Given the description of an element on the screen output the (x, y) to click on. 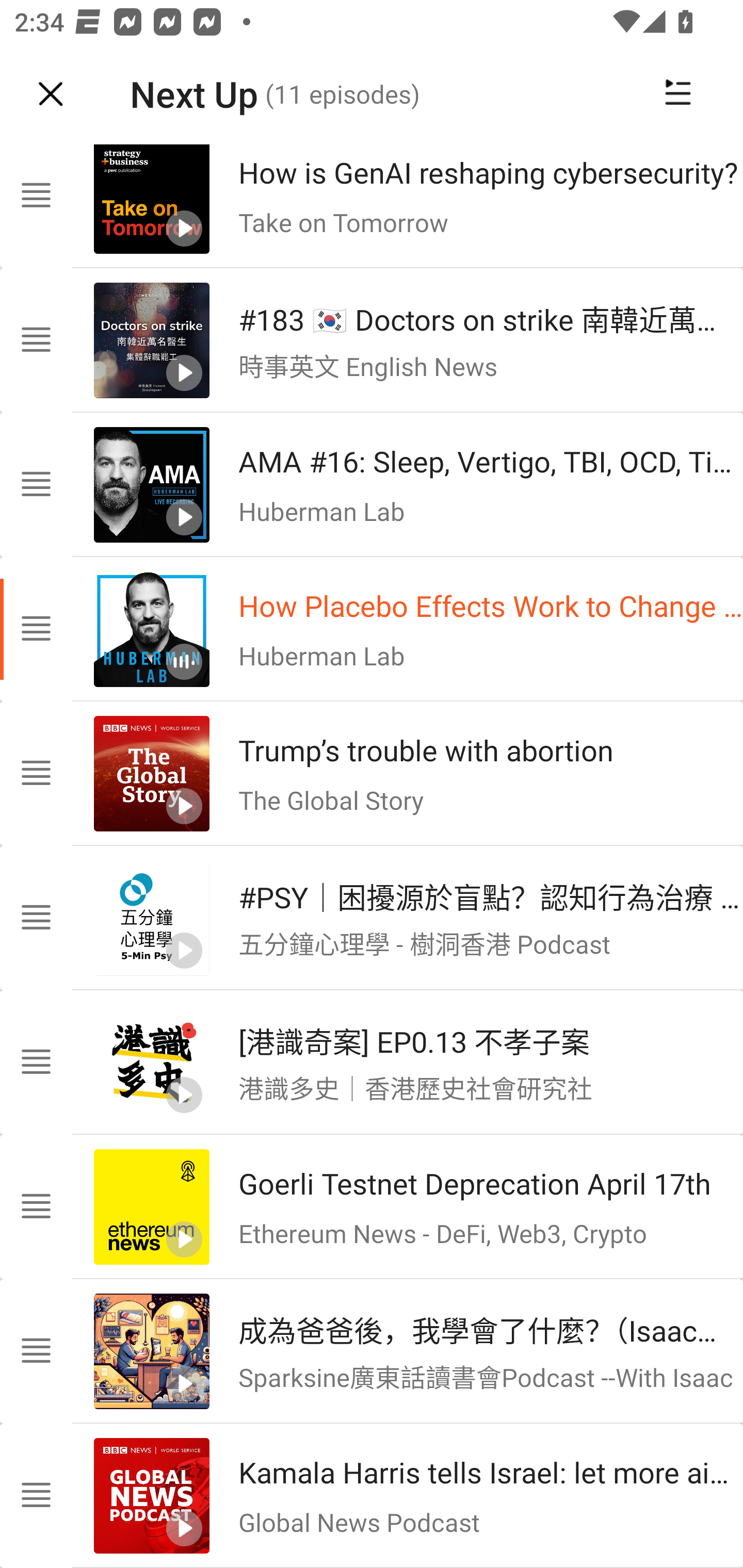
Navigate up (50, 93)
